Given the description of an element on the screen output the (x, y) to click on. 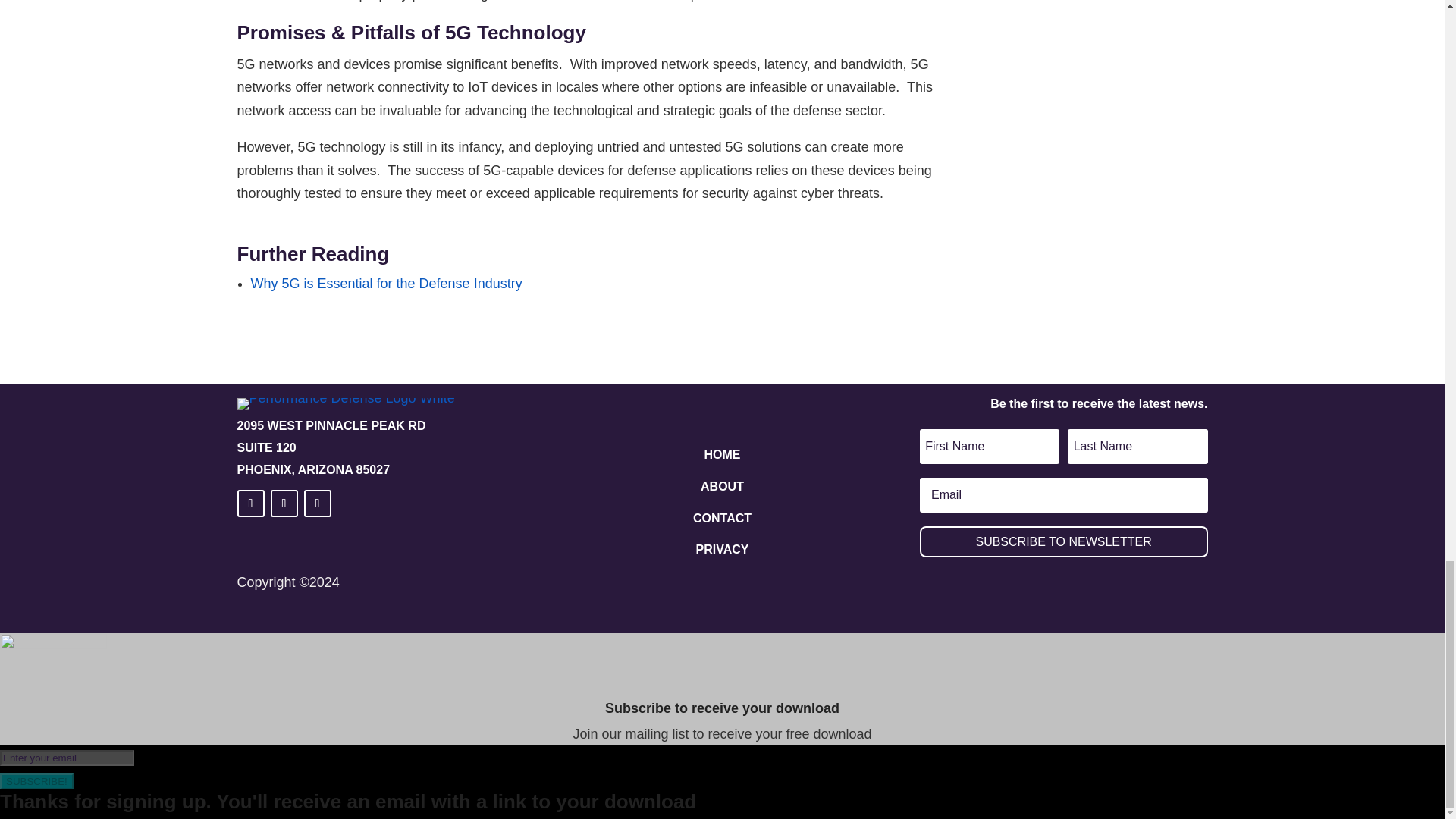
Follow on LinkedIn (249, 502)
Follow on Facebook (283, 502)
Performance Defense wordmark and visual White (344, 404)
Why 5G is Essential for the Defense Industry (385, 283)
Follow on X (316, 502)
